Given the description of an element on the screen output the (x, y) to click on. 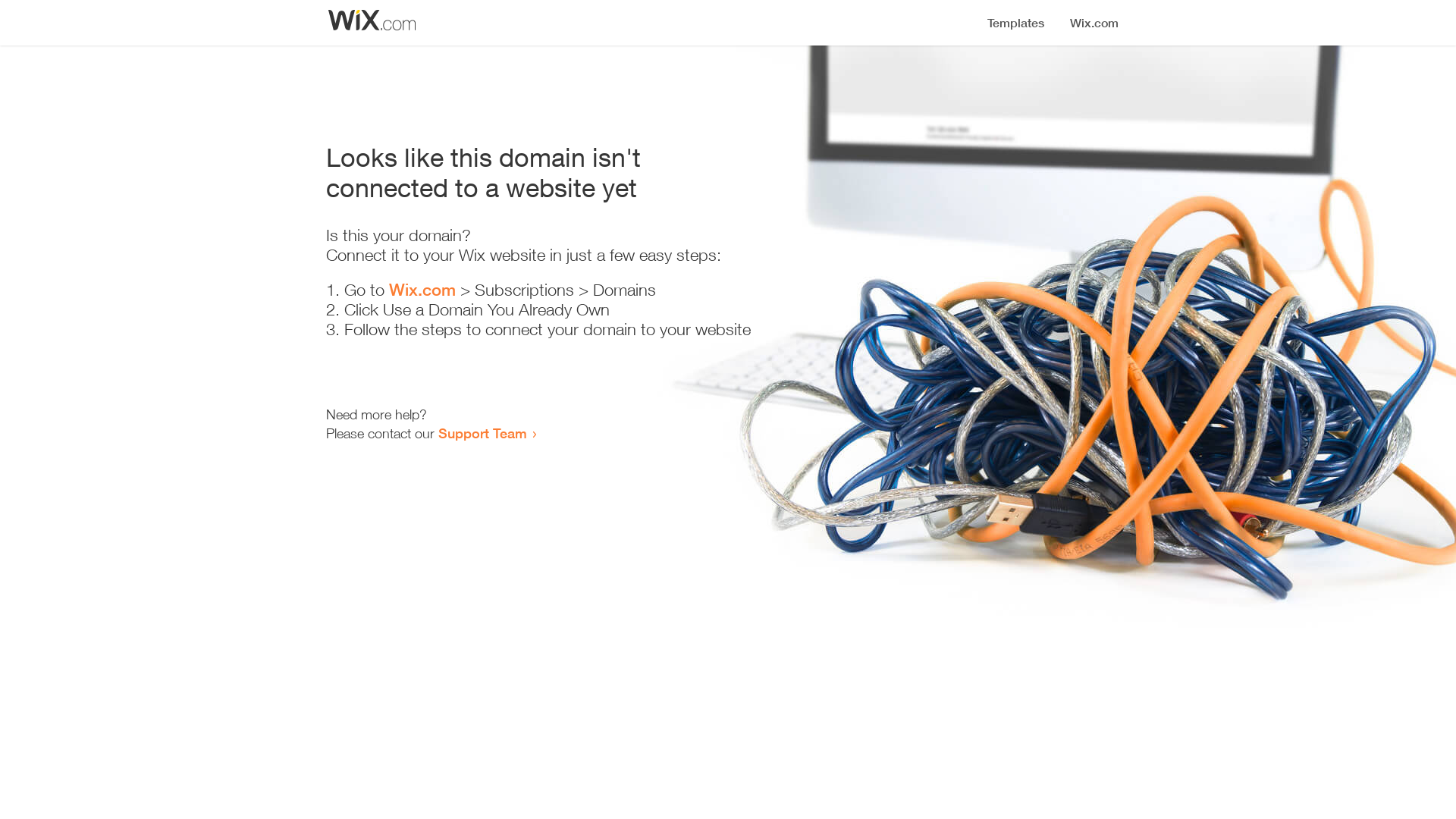
Support Team Element type: text (482, 432)
Wix.com Element type: text (422, 289)
